Given the description of an element on the screen output the (x, y) to click on. 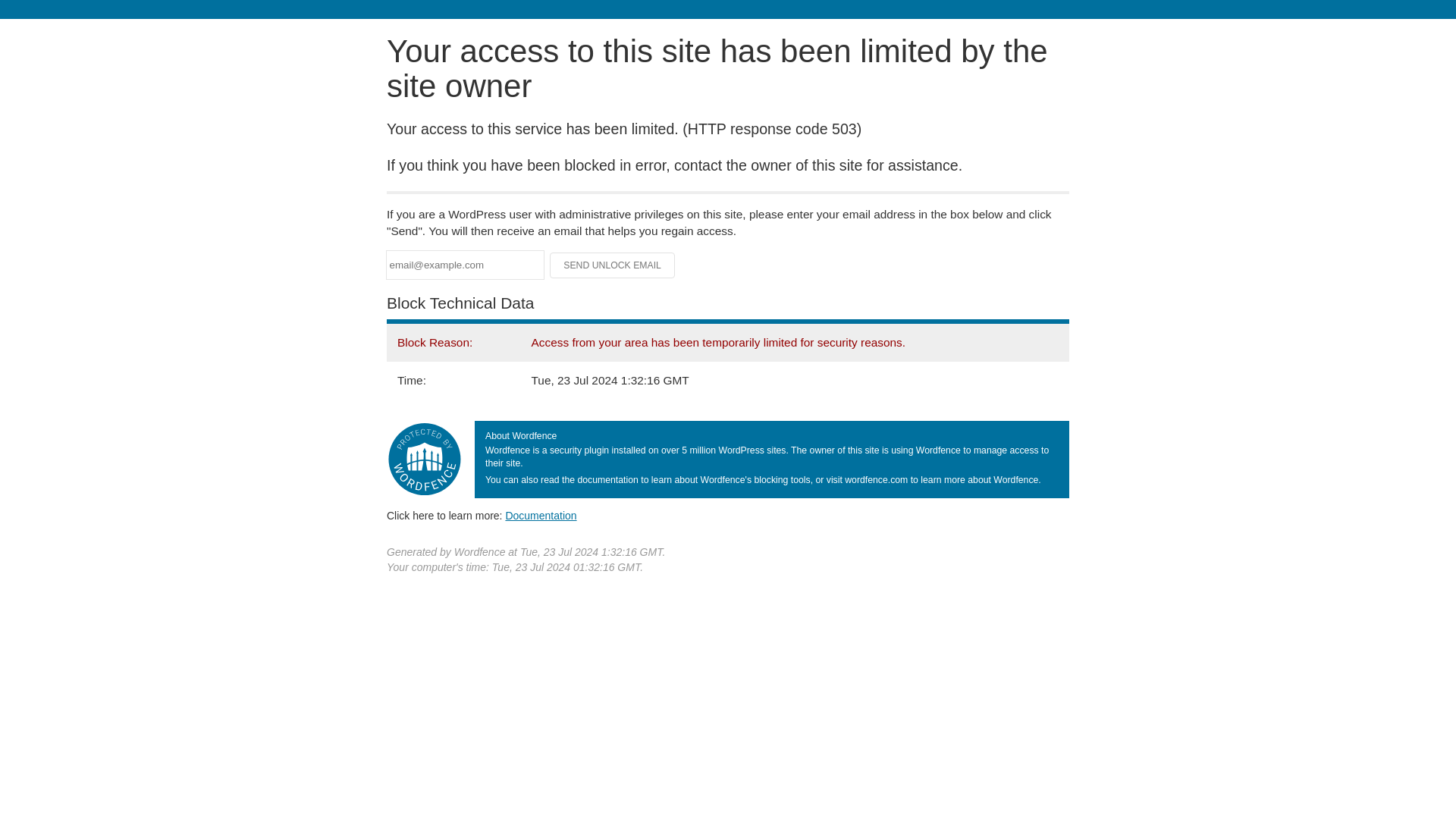
Send Unlock Email (612, 265)
Send Unlock Email (612, 265)
Documentation (540, 515)
